Given the description of an element on the screen output the (x, y) to click on. 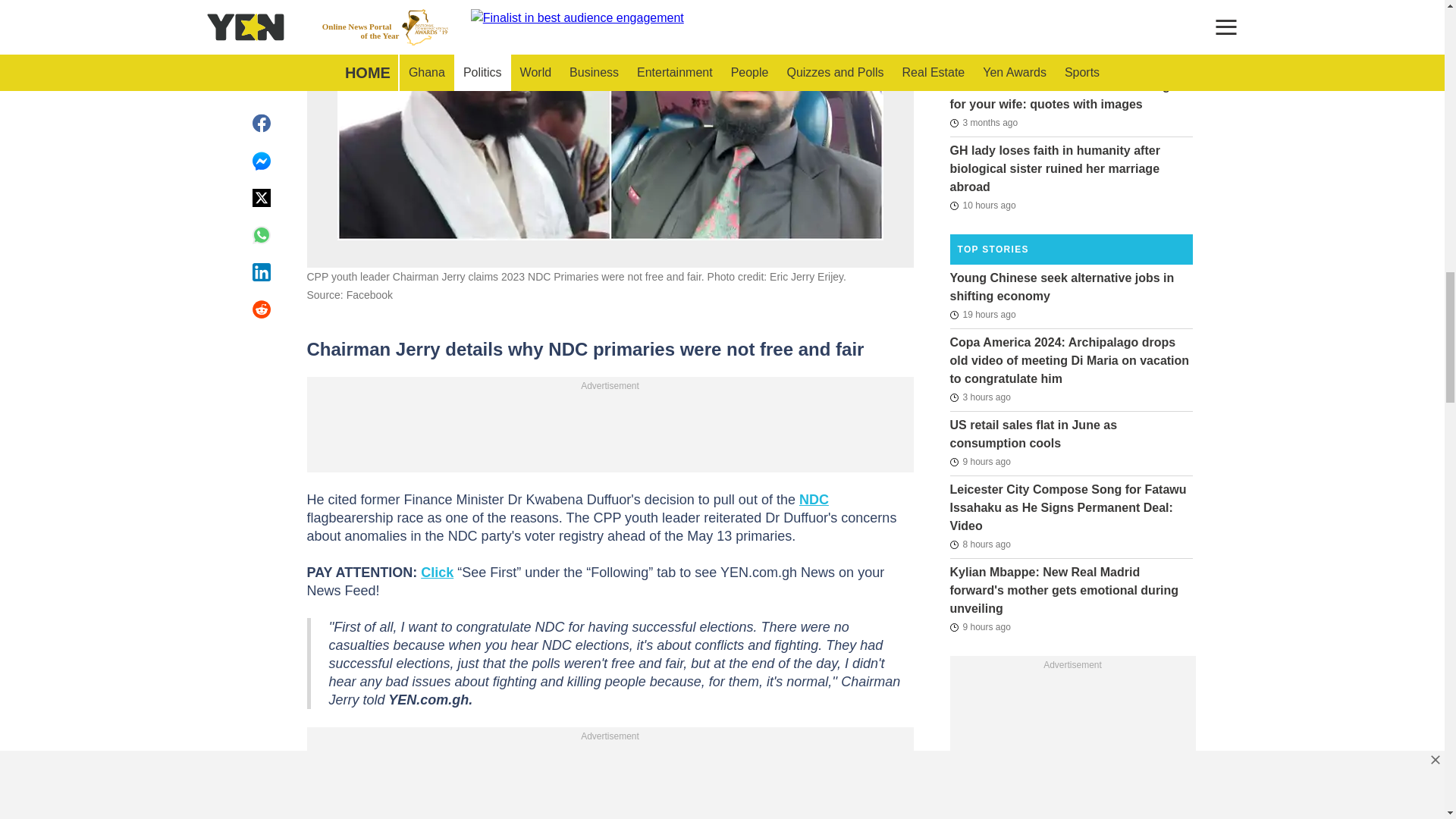
2024-04-09T11:32:35Z (983, 122)
Photos of Chairman Jerry. (609, 120)
2024-04-12T07:01:24Z (983, 58)
